Given the description of an element on the screen output the (x, y) to click on. 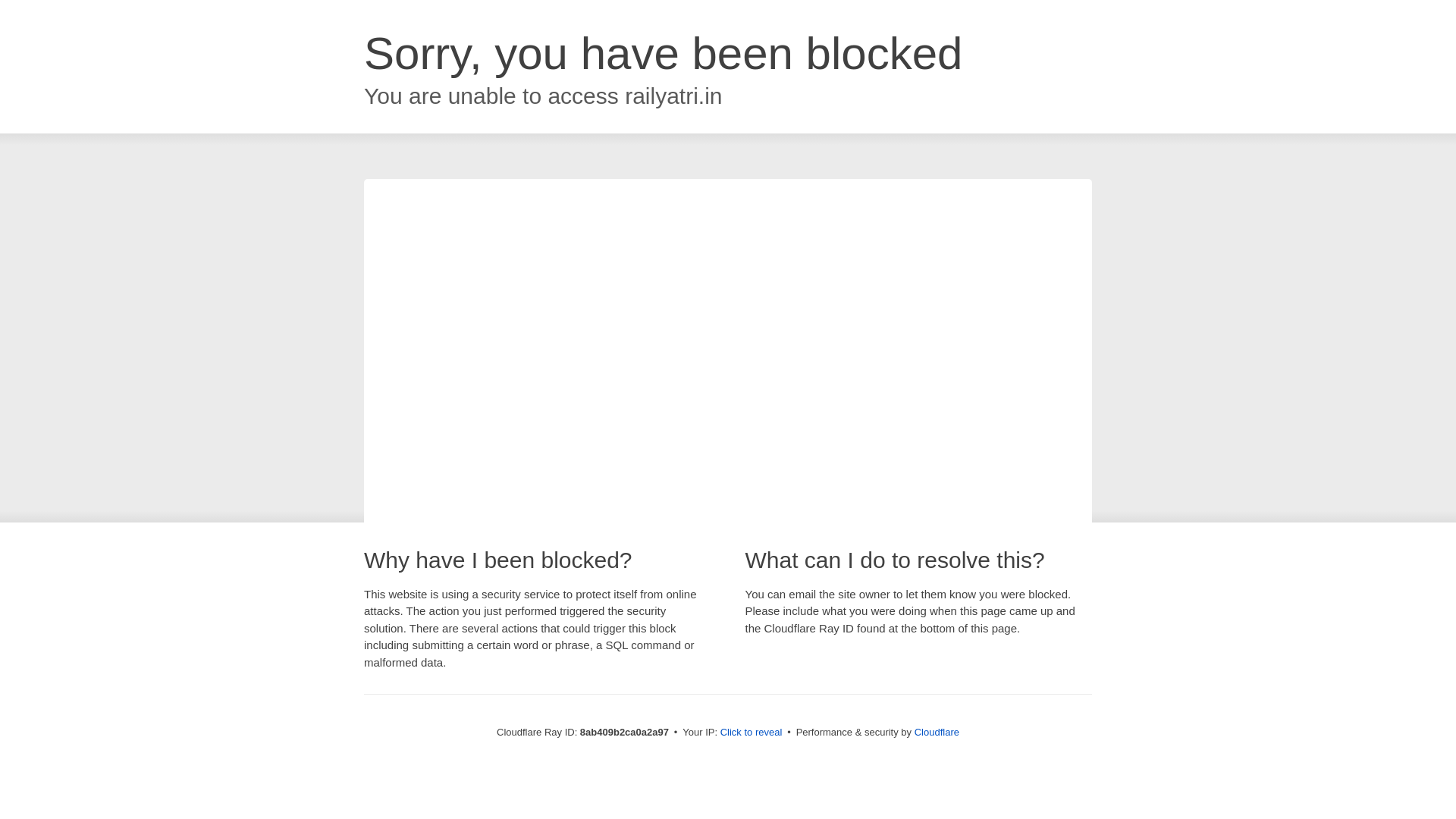
Click to reveal (751, 732)
Cloudflare (936, 731)
